Given the description of an element on the screen output the (x, y) to click on. 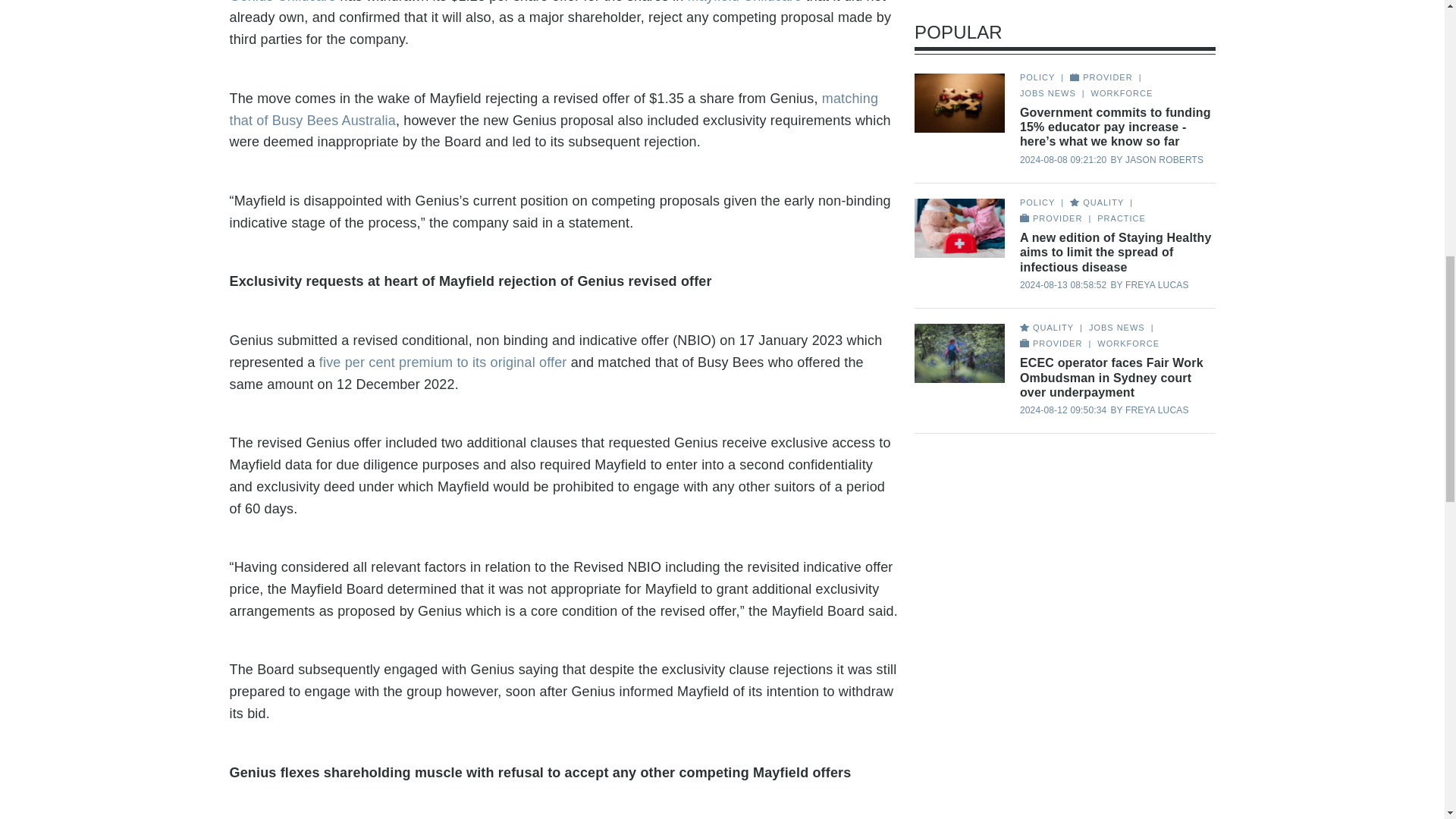
Genius Childcare (282, 2)
matching that of Busy Bees Australia (552, 108)
Mayfield Childcare (744, 2)
five per cent premium to its original offer (441, 362)
